Given the description of an element on the screen output the (x, y) to click on. 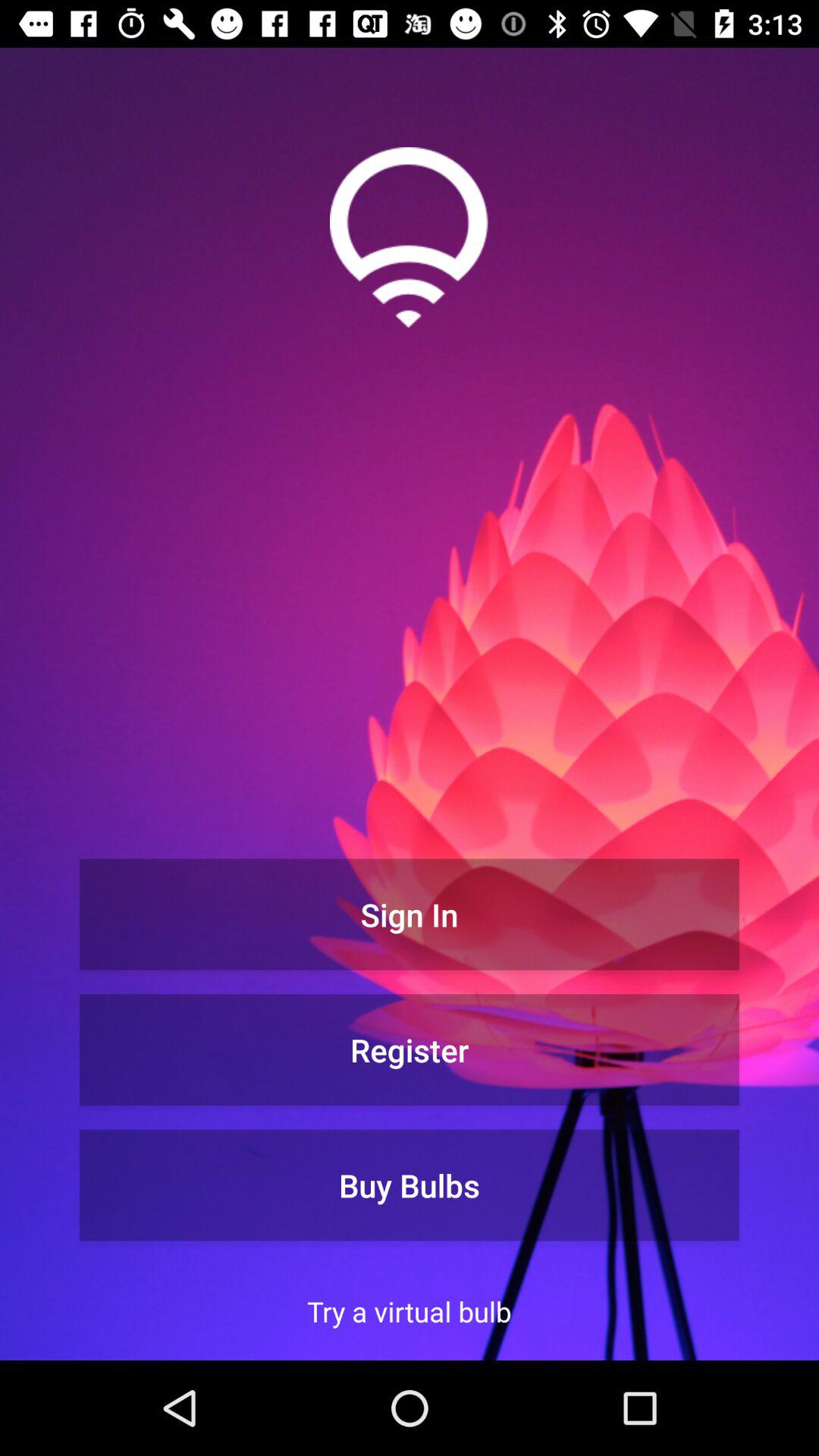
open button above the register icon (409, 914)
